Given the description of an element on the screen output the (x, y) to click on. 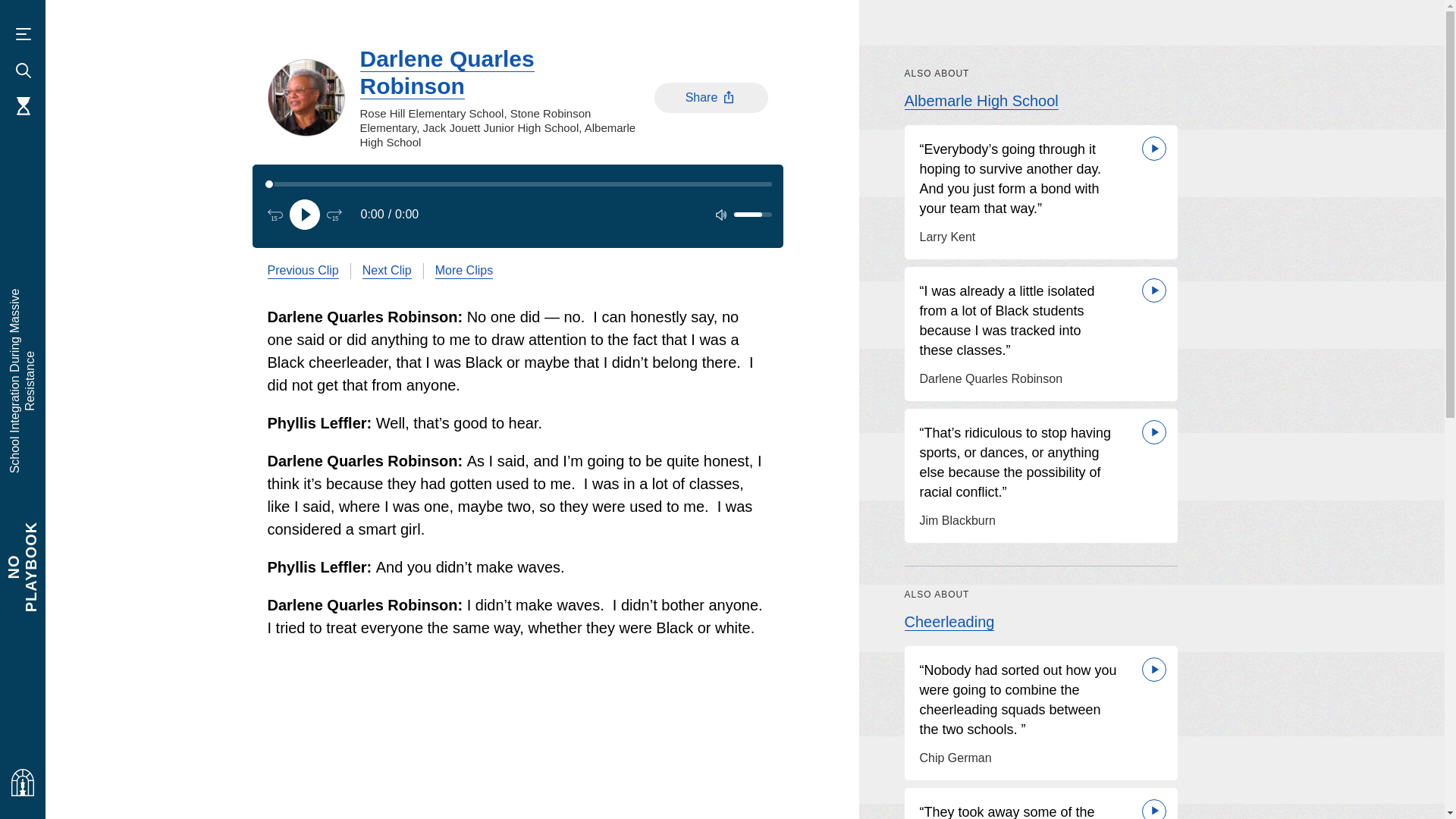
0 (517, 184)
75 (188, 278)
